Given the description of an element on the screen output the (x, y) to click on. 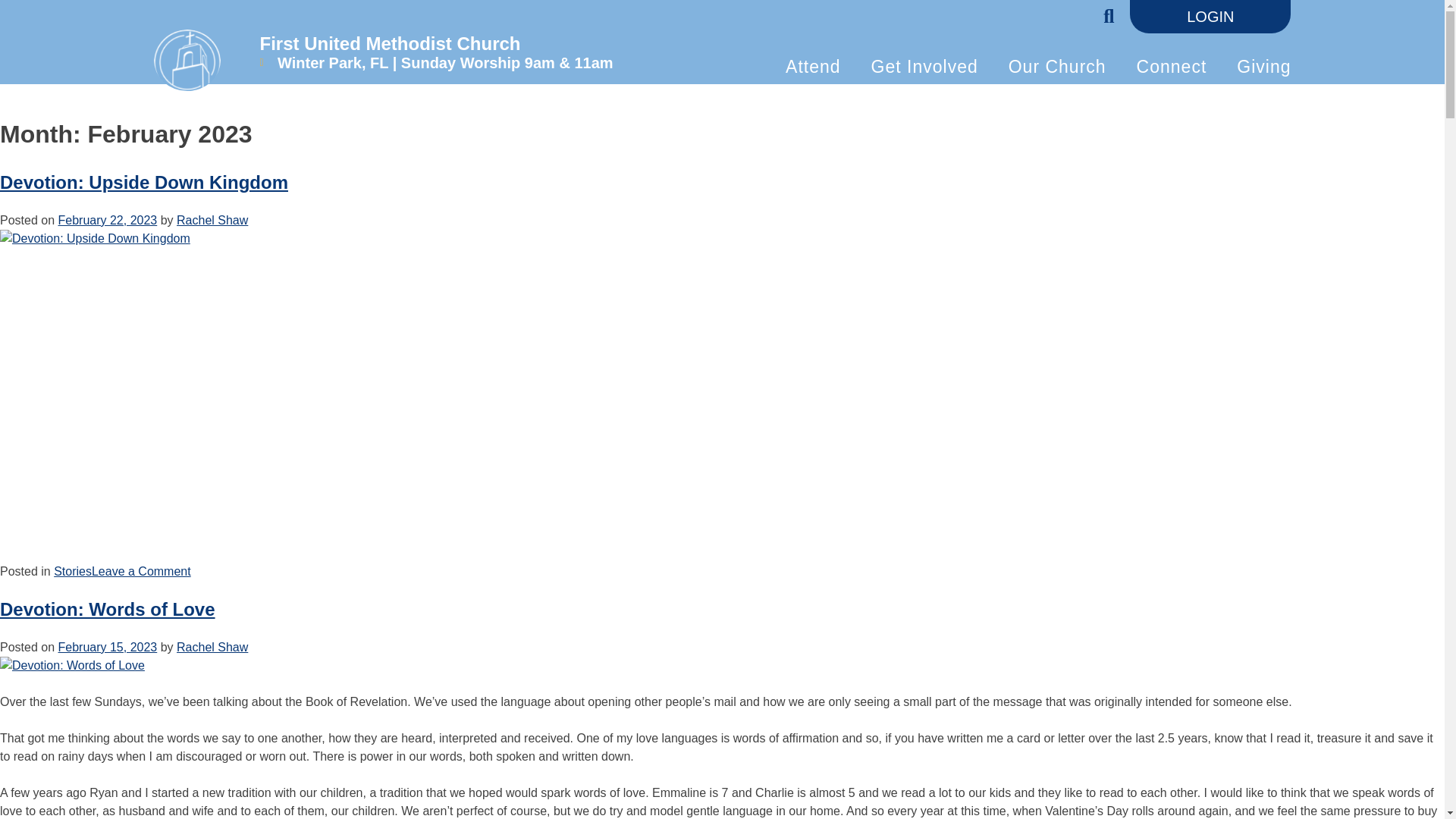
LOGIN (1209, 16)
Devotion: Upside Down Kingdom (242, 402)
Attend (813, 66)
